Given the description of an element on the screen output the (x, y) to click on. 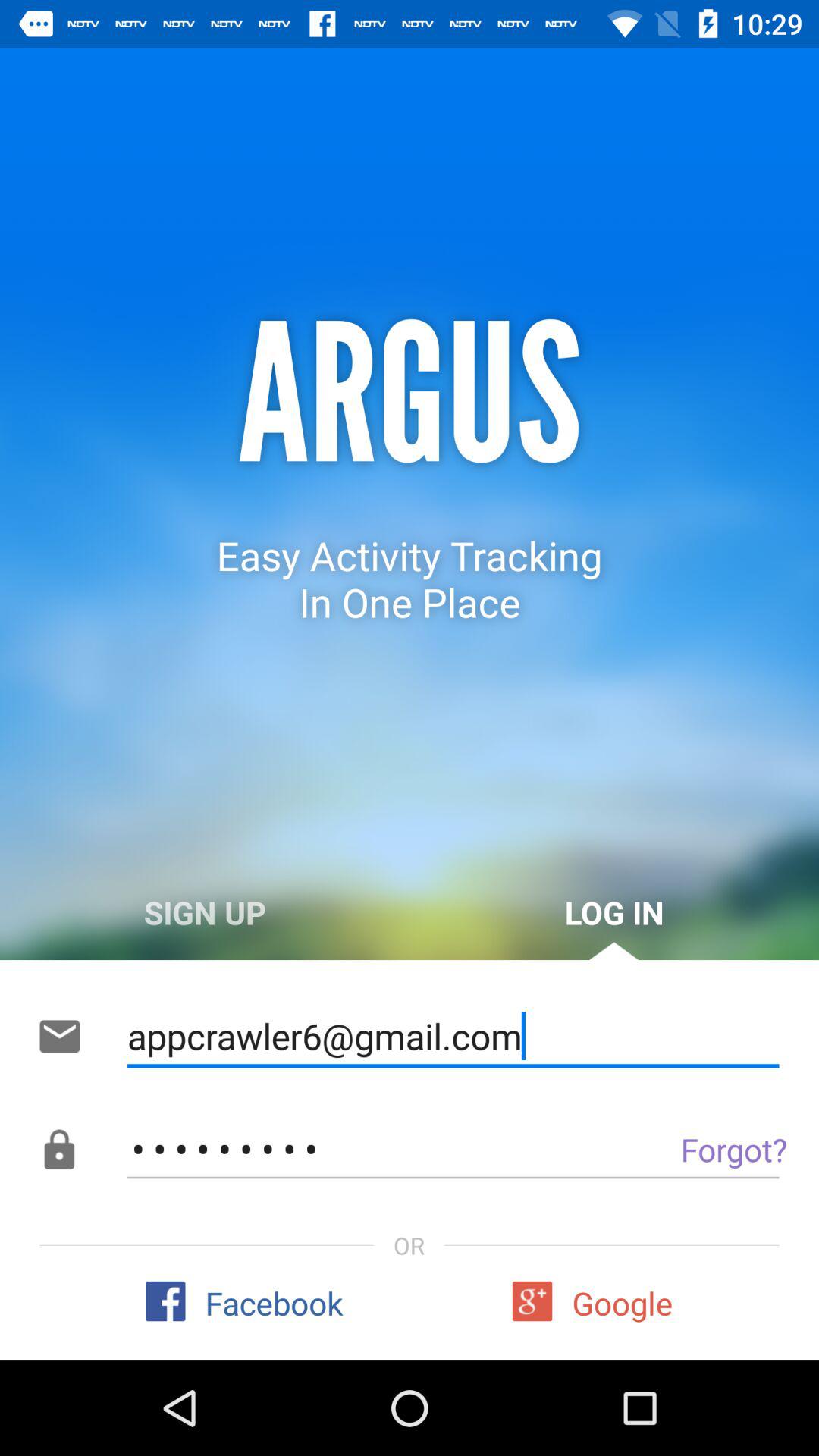
click item above appcrawler6@gmail.com (614, 912)
